Given the description of an element on the screen output the (x, y) to click on. 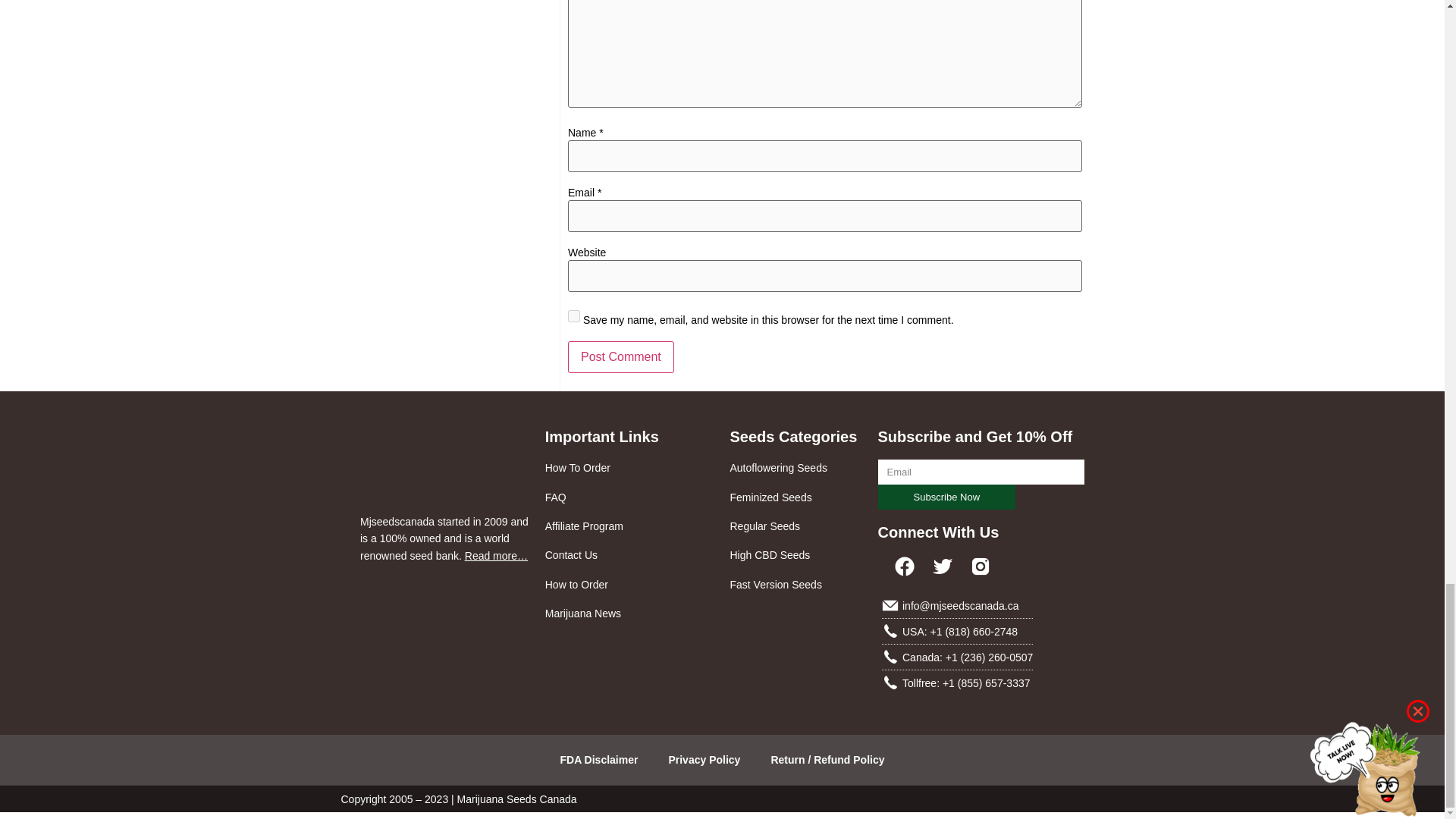
Post Comment (620, 357)
asseenin (444, 600)
yes (573, 316)
mjseedsca-logo-footer (419, 465)
